Given the description of an element on the screen output the (x, y) to click on. 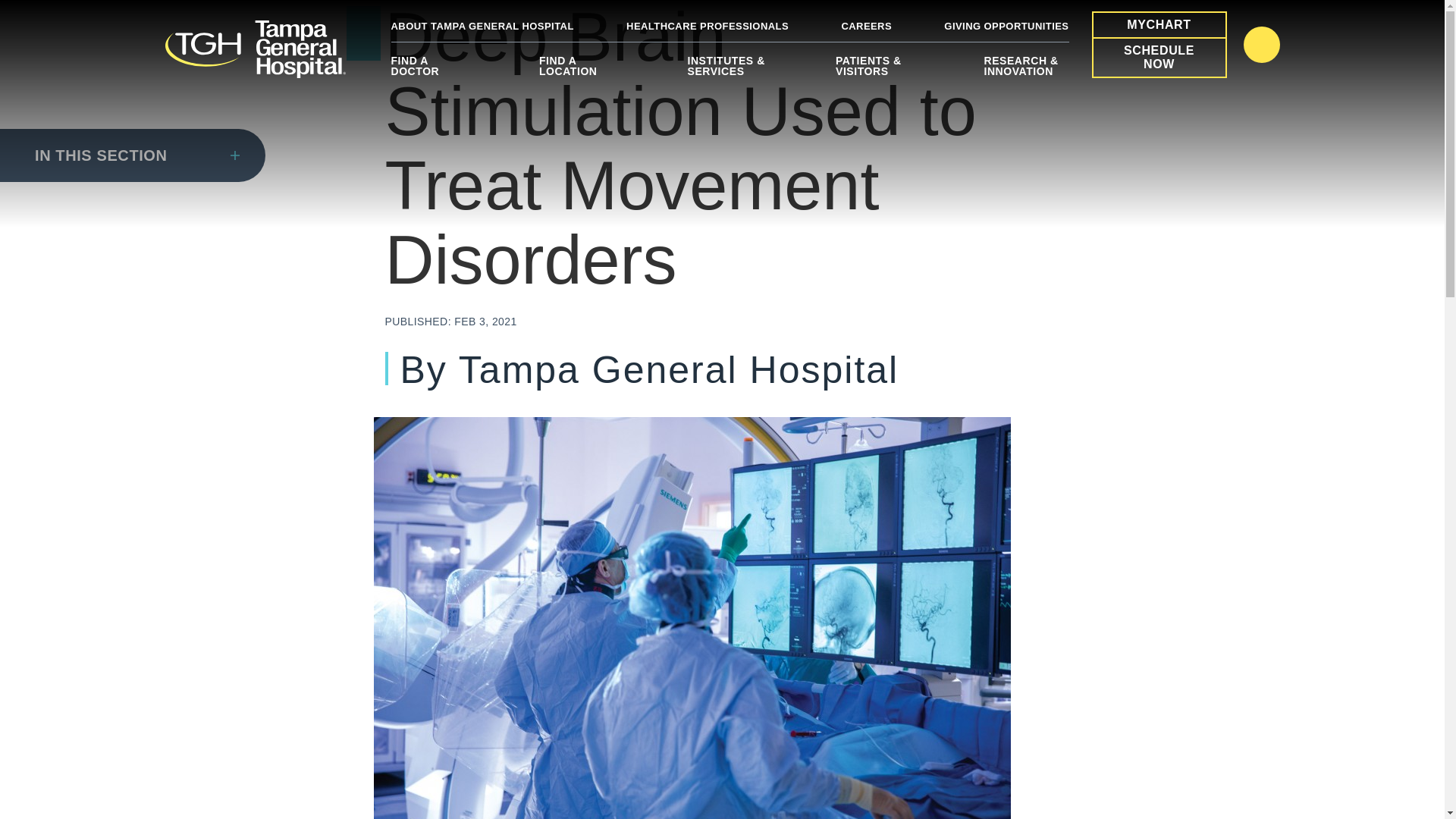
ABOUT TAMPA GENERAL HOSPITAL (482, 25)
FIND A DOCTOR (433, 71)
HEALTHCARE PROFESSIONALS (707, 25)
SCHEDULE NOW (1159, 57)
Toggle Main Search (1261, 44)
CAREERS (866, 25)
GIVING OPPORTUNITIES (1005, 25)
MYCHART (1159, 24)
FIND A LOCATION (581, 71)
